Given the description of an element on the screen output the (x, y) to click on. 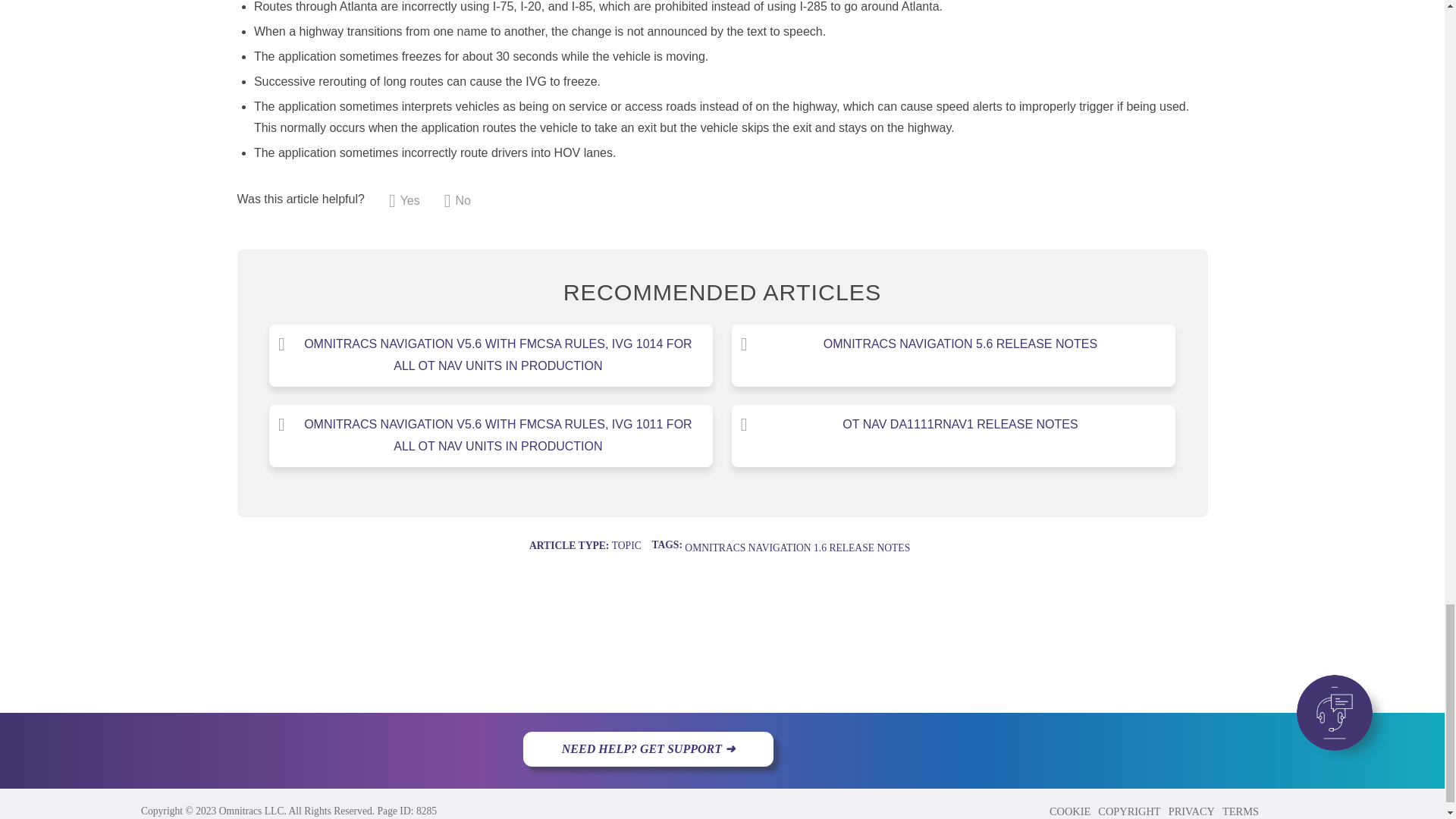
TOPIC (626, 545)
OMNITRACS NAVIGATION 5.6 RELEASE NOTES (953, 344)
No (457, 200)
OT NAV DA1111RNAV1 RELEASE NOTES (953, 424)
OMNITRACS NAVIGATION 1.6 RELEASE NOTES (797, 547)
OT NAV DA1111RNAV1 RELEASE NOTES (953, 424)
